Given the description of an element on the screen output the (x, y) to click on. 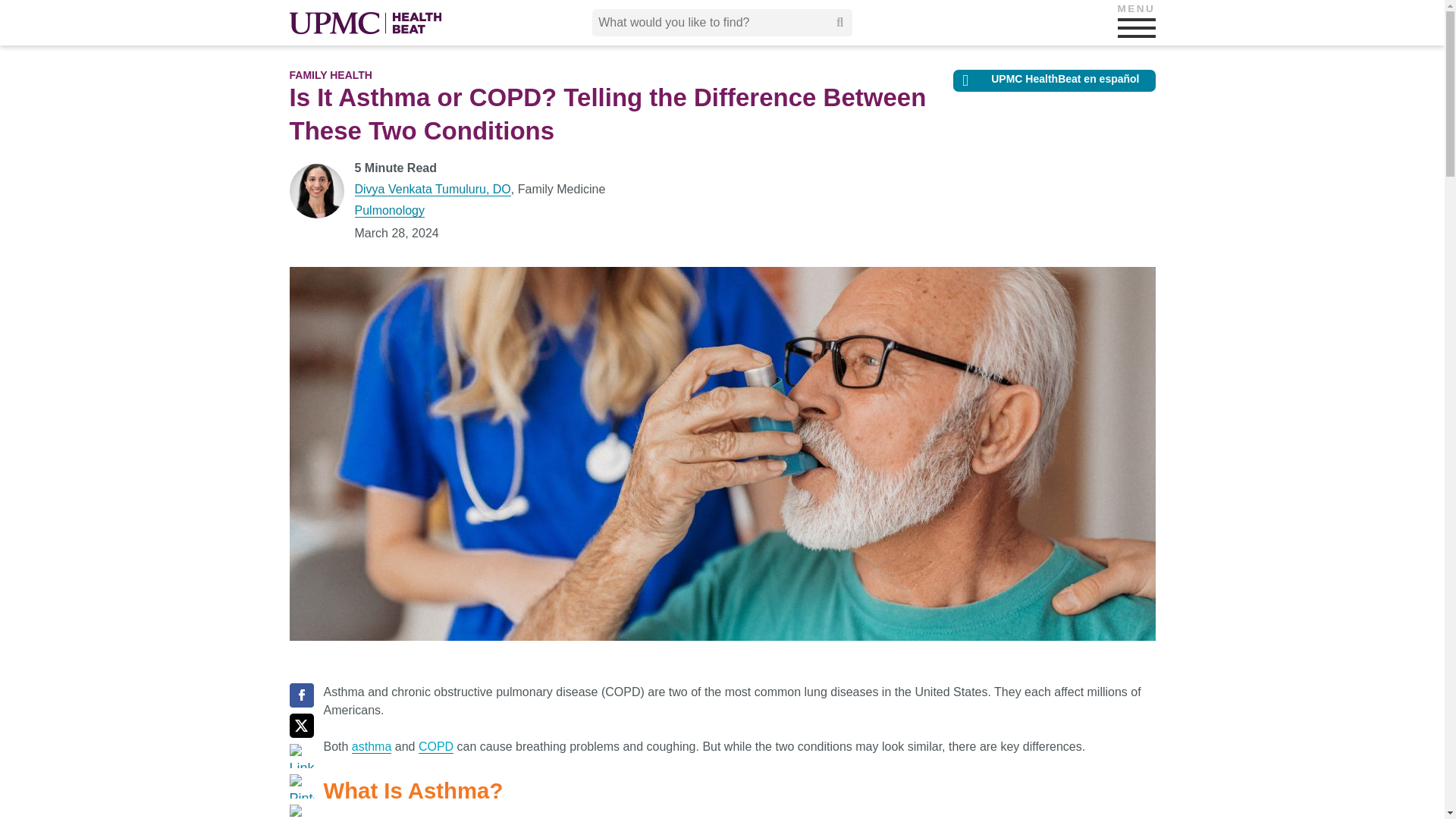
UPMC HealthBeat (365, 22)
  MENU (1137, 27)
Submit search (839, 22)
